Given the description of an element on the screen output the (x, y) to click on. 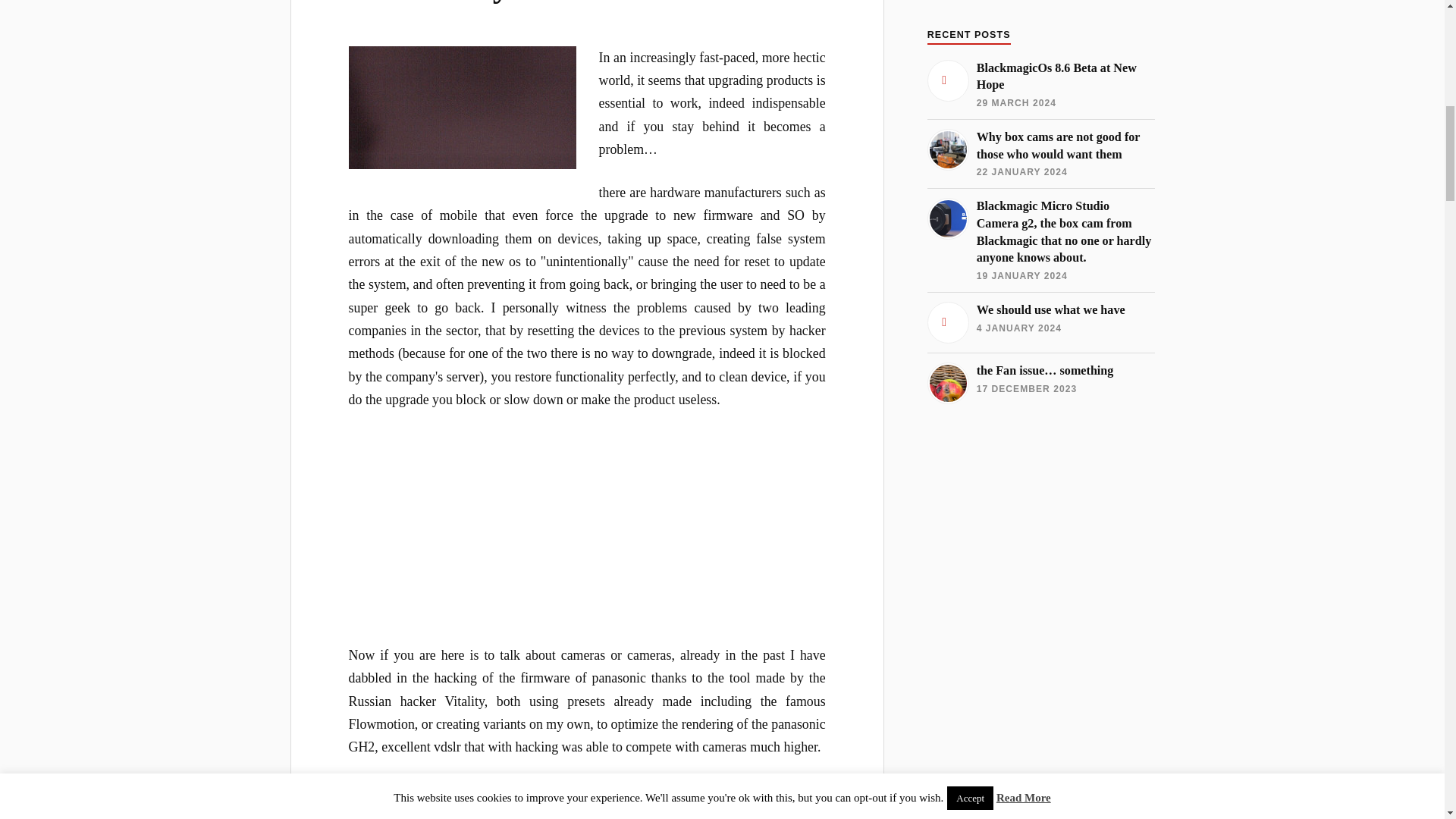
Advertisement (1040, 626)
Advertisement (587, 537)
